Given the description of an element on the screen output the (x, y) to click on. 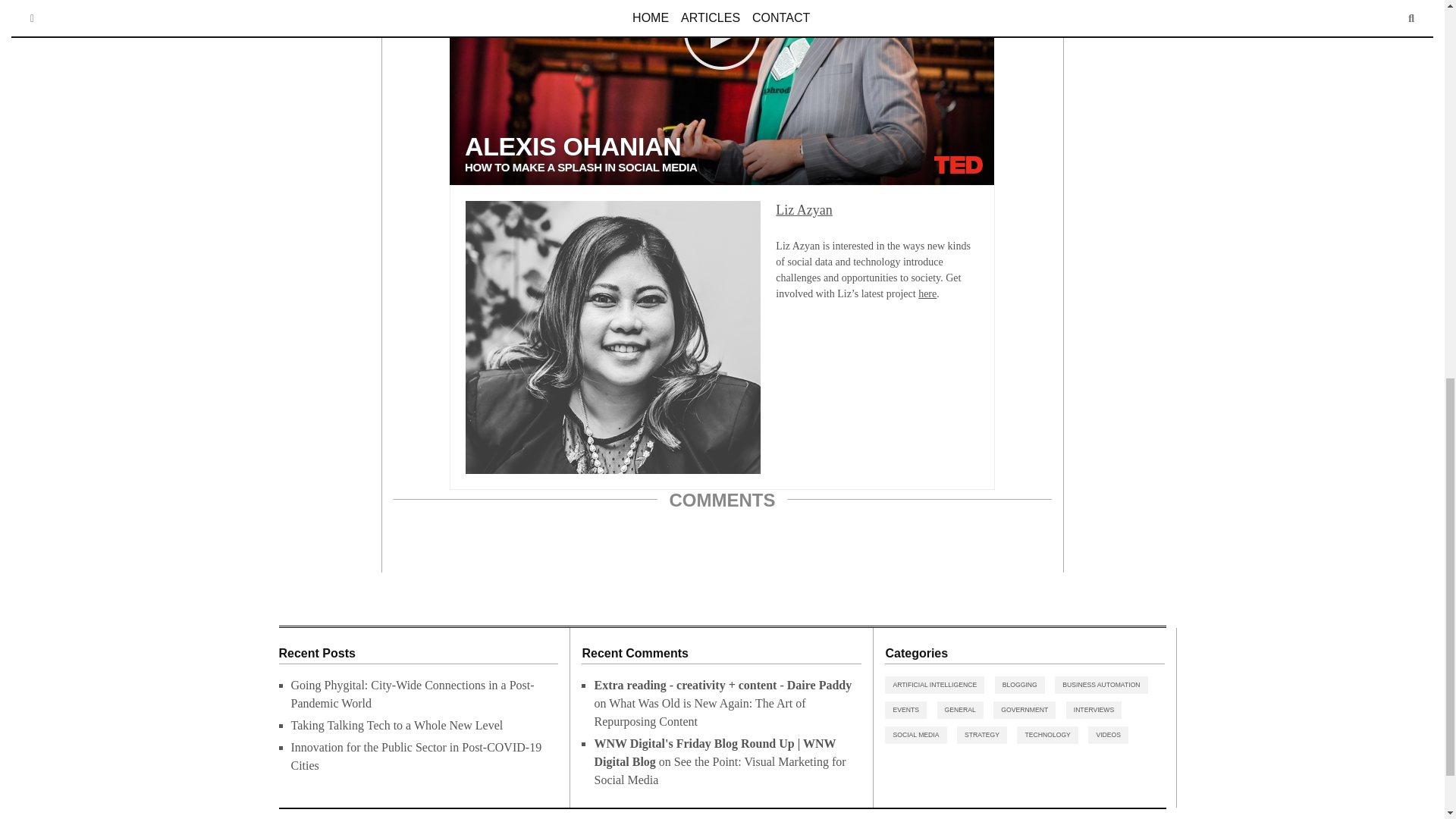
ARTIFICIAL INTELLIGENCE (934, 684)
SOCIAL MEDIA (915, 734)
Innovation for the Public Sector in Post-COVID-19 Cities (416, 756)
BLOGGING (1019, 684)
GOVERNMENT (1023, 710)
Taking Talking Tech to a Whole New Level (397, 725)
VIDEOS (1107, 734)
INTERVIEWS (1093, 710)
TECHNOLOGY (1046, 734)
Liz Azyan (803, 209)
here (927, 293)
STRATEGY (981, 734)
EVENTS (905, 710)
See the Point: Visual Marketing for Social Media (719, 770)
